Given the description of an element on the screen output the (x, y) to click on. 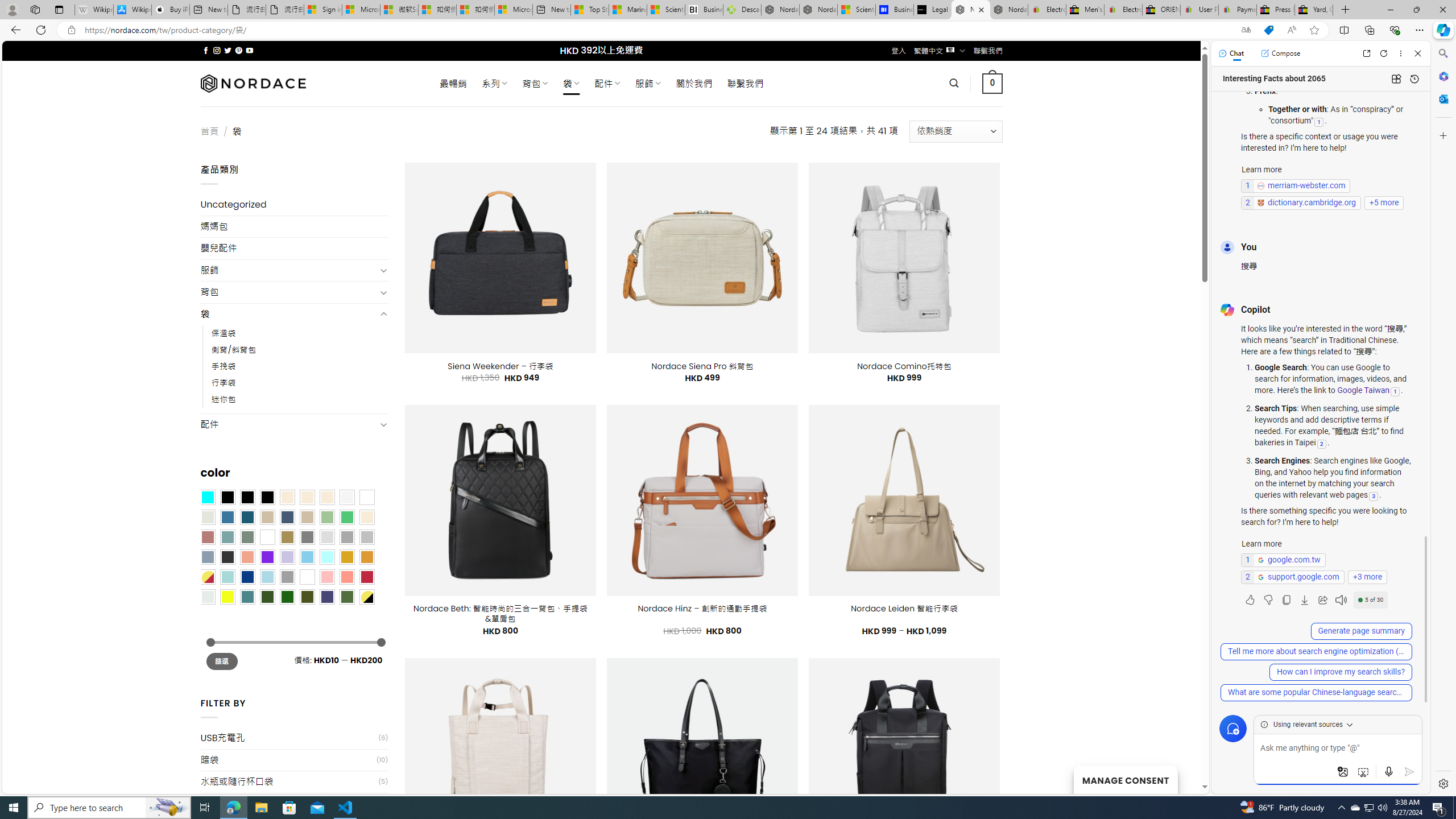
MANAGE CONSENT (1125, 779)
